Given the description of an element on the screen output the (x, y) to click on. 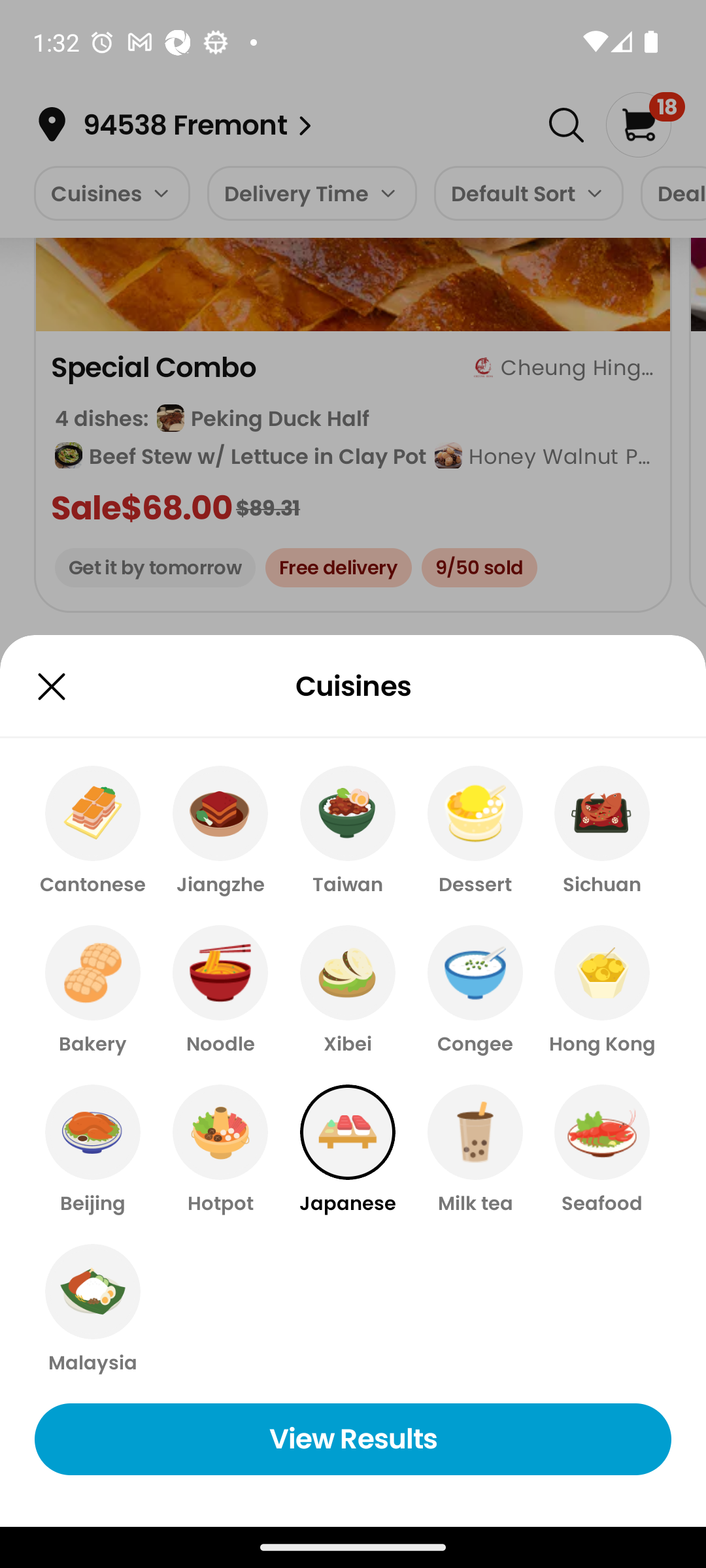
Image (51, 686)
Image Cantonese (92, 830)
Image Jiangzhe (220, 830)
Image Taiwan (347, 830)
Image Dessert (475, 830)
Image Sichuan (601, 830)
Image Bakery (92, 990)
Image Noodle (220, 990)
Image Xibei (347, 990)
Image Congee (475, 990)
Image Hong Kong (601, 990)
Image Beijing (92, 1150)
Image Hotpot (220, 1150)
Image Image Japanese (347, 1150)
Image Milk tea (475, 1150)
Image Seafood (601, 1150)
Image Malaysia (92, 1309)
View Results (352, 1439)
